Given the description of an element on the screen output the (x, y) to click on. 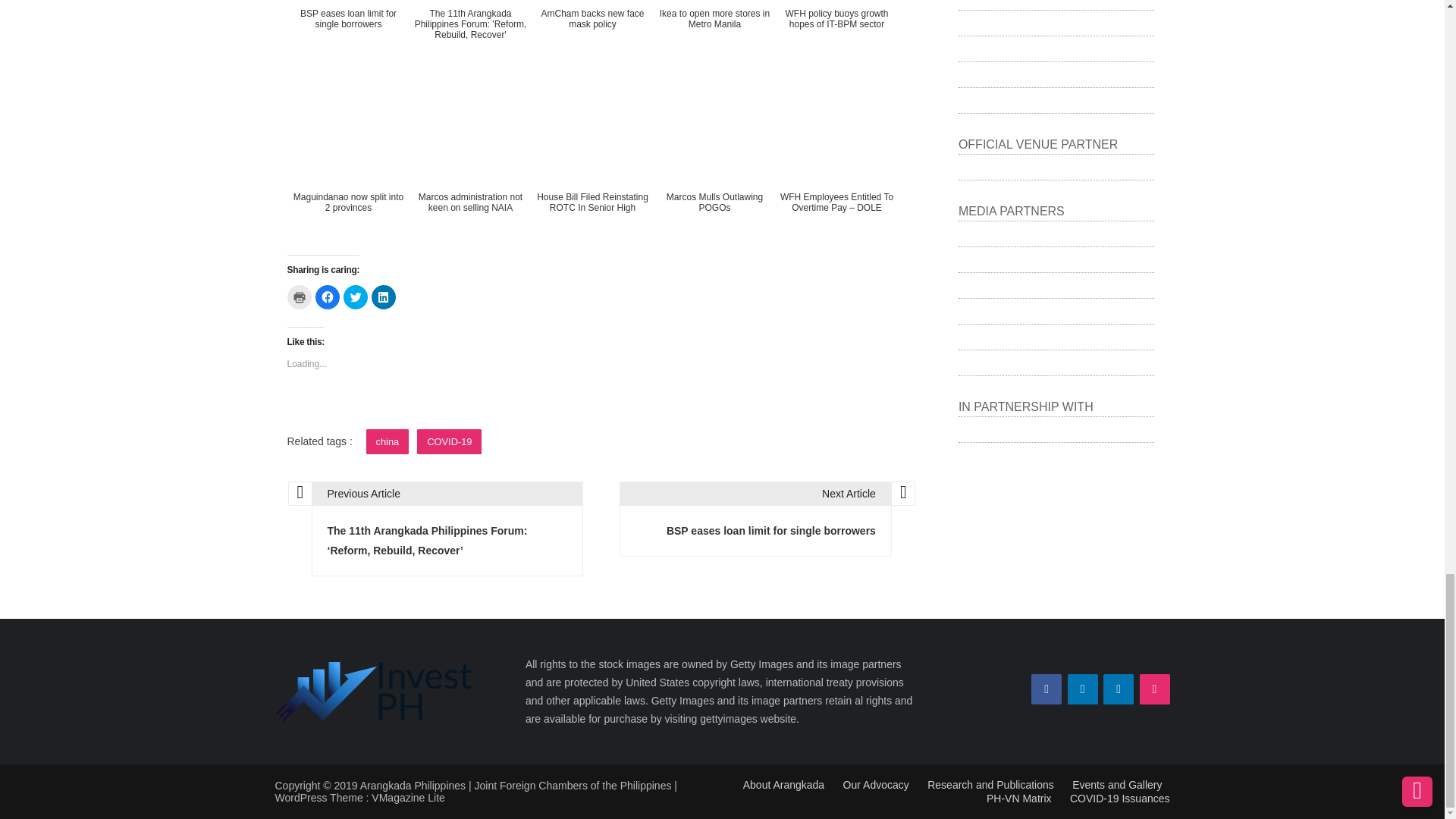
Click to print (298, 297)
Click to share on Twitter (354, 297)
Click to share on LinkedIn (383, 297)
Click to share on Facebook (327, 297)
